Given the description of an element on the screen output the (x, y) to click on. 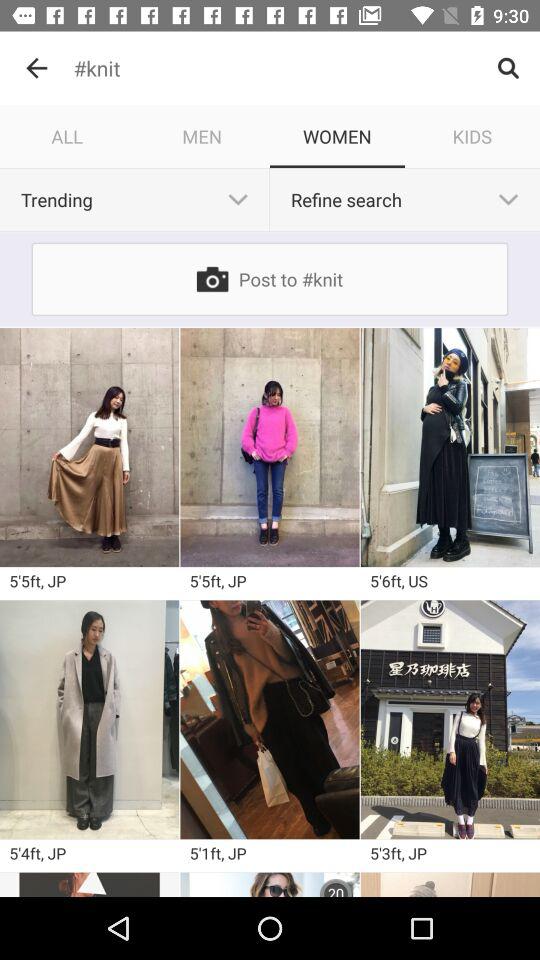
open the men icon (202, 136)
